Given the description of an element on the screen output the (x, y) to click on. 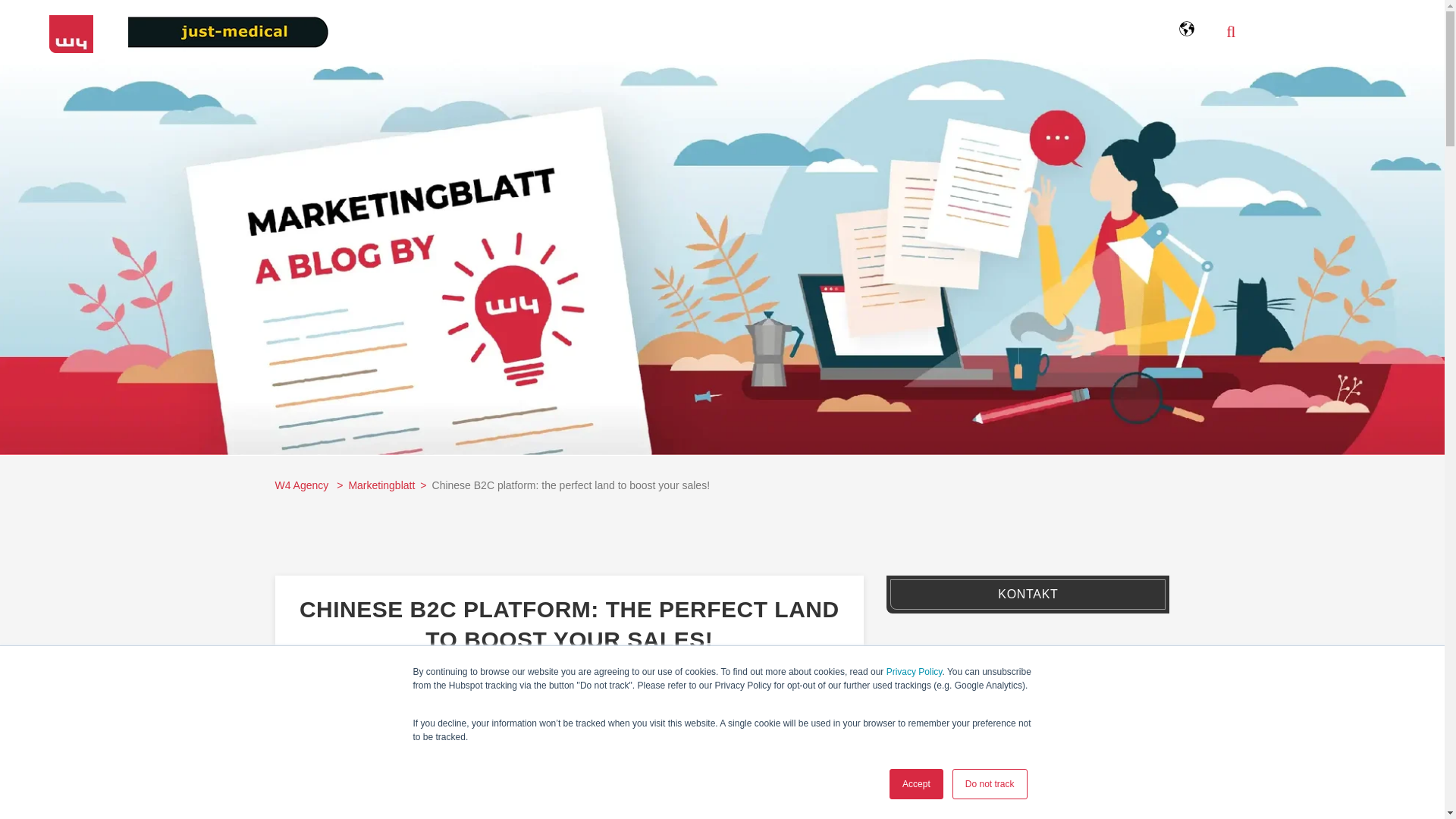
W4 (542, 694)
W4 Logo (71, 34)
Accept (916, 784)
Marketingblatt (380, 485)
Do not track (989, 784)
W4 Agency (303, 485)
Privacy Policy (914, 671)
